Given the description of an element on the screen output the (x, y) to click on. 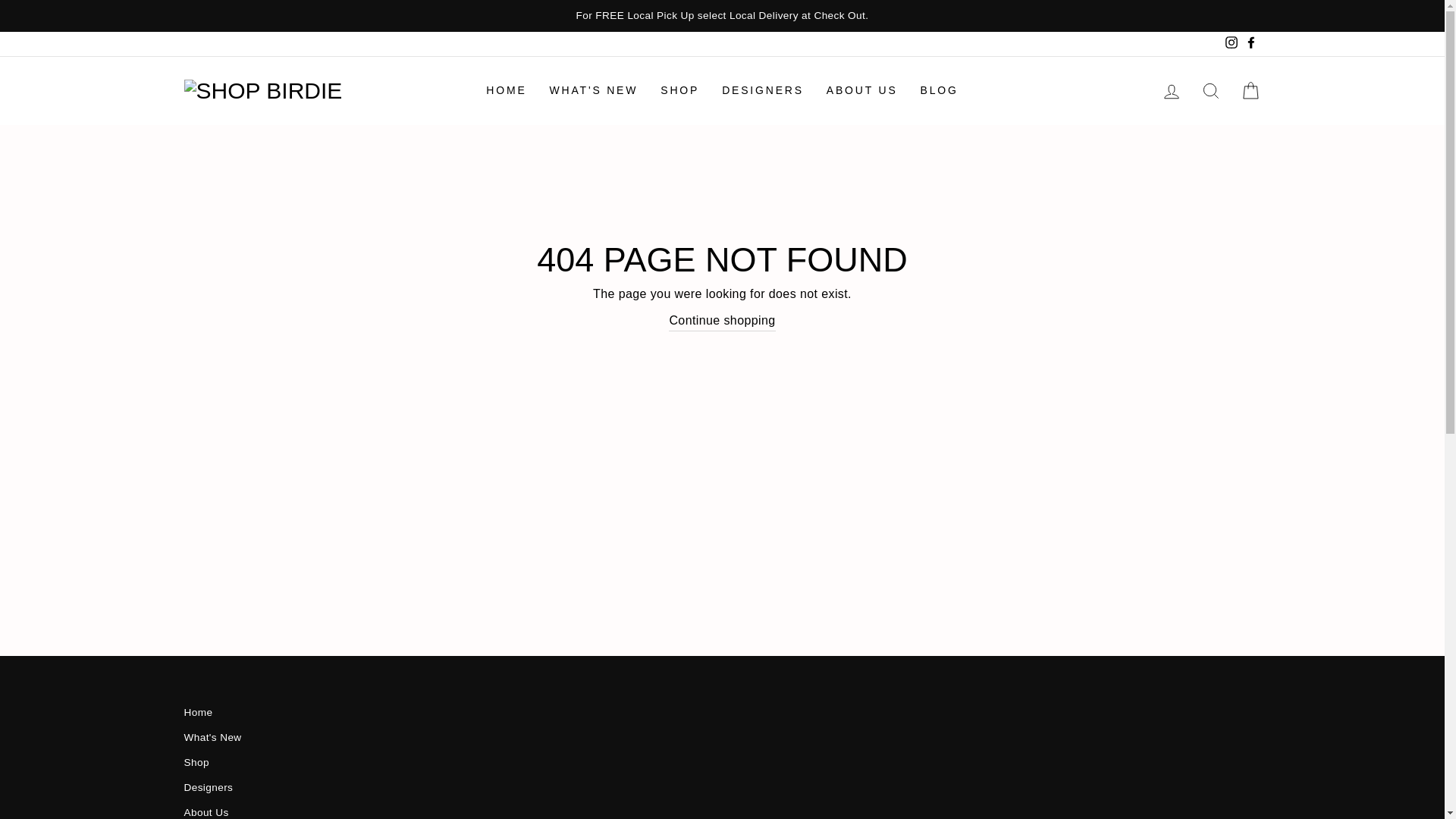
WHAT'S NEW (593, 90)
SHOP (679, 90)
HOME (505, 90)
